Given the description of an element on the screen output the (x, y) to click on. 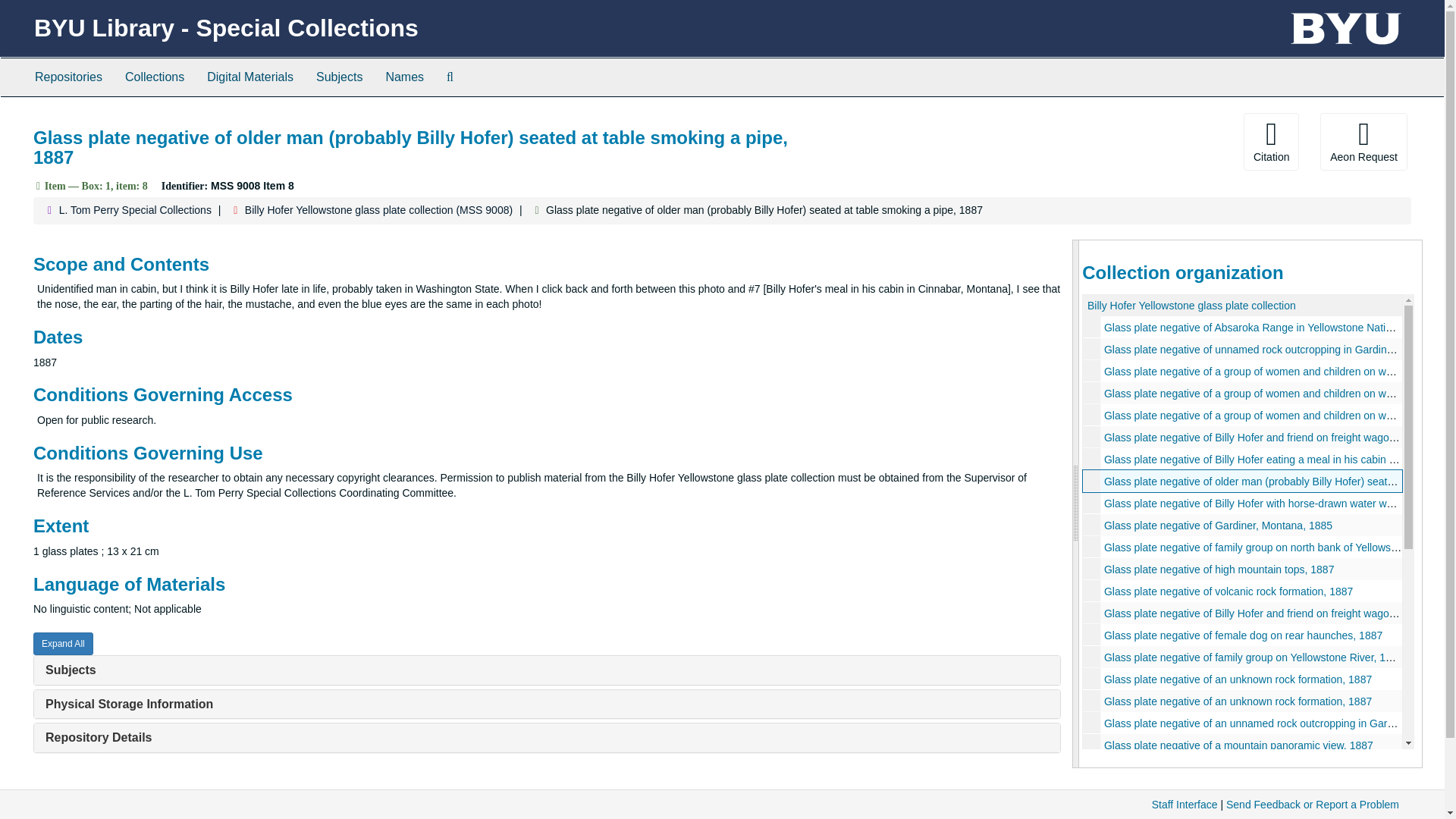
Physical Storage Information (128, 703)
Subjects (70, 669)
Return to the homepage (226, 27)
Expand All (63, 643)
Citation (1270, 141)
Repositories (68, 77)
Collections (154, 77)
